Given the description of an element on the screen output the (x, y) to click on. 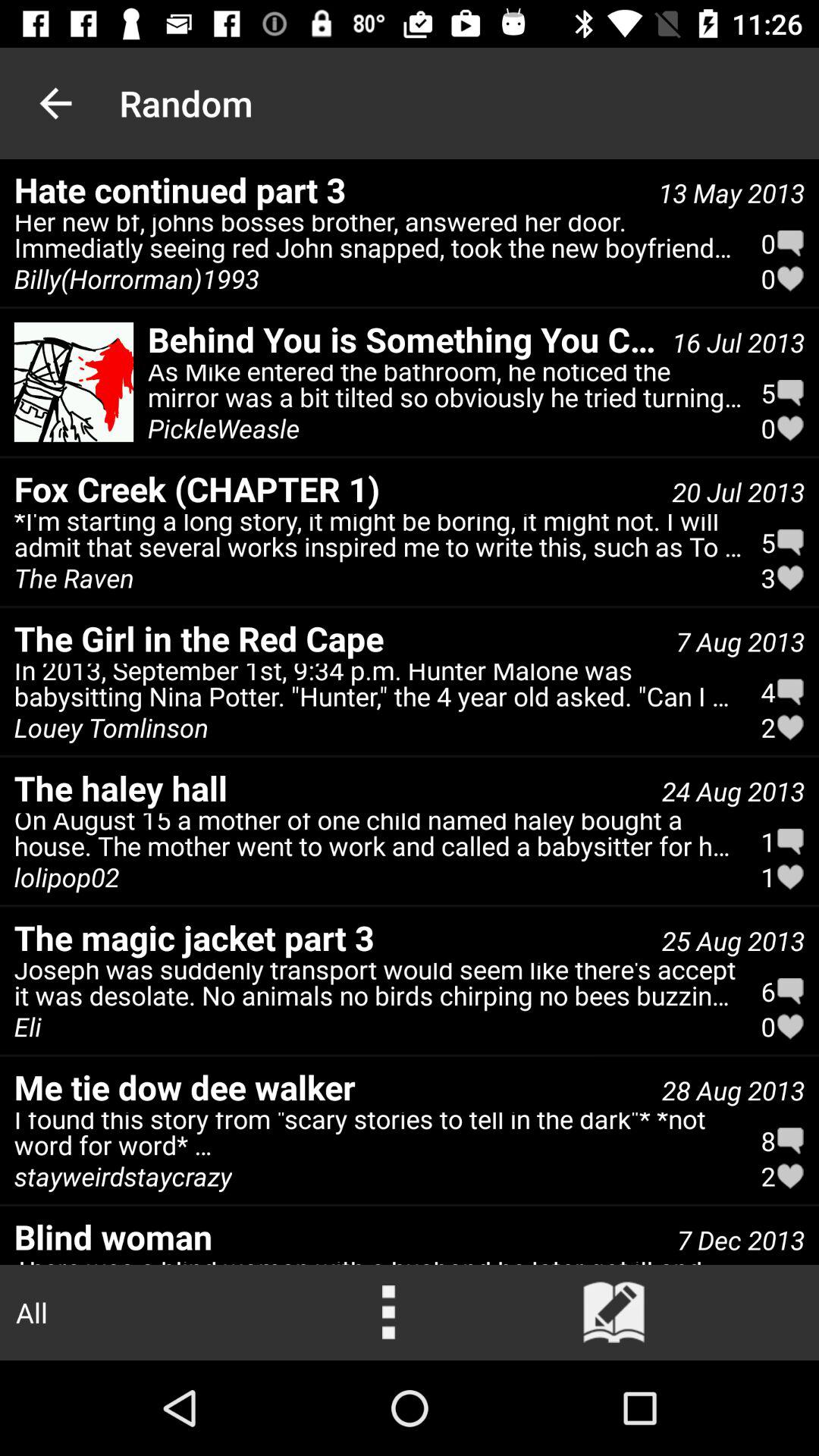
tap item next to 0 icon (378, 240)
